Given the description of an element on the screen output the (x, y) to click on. 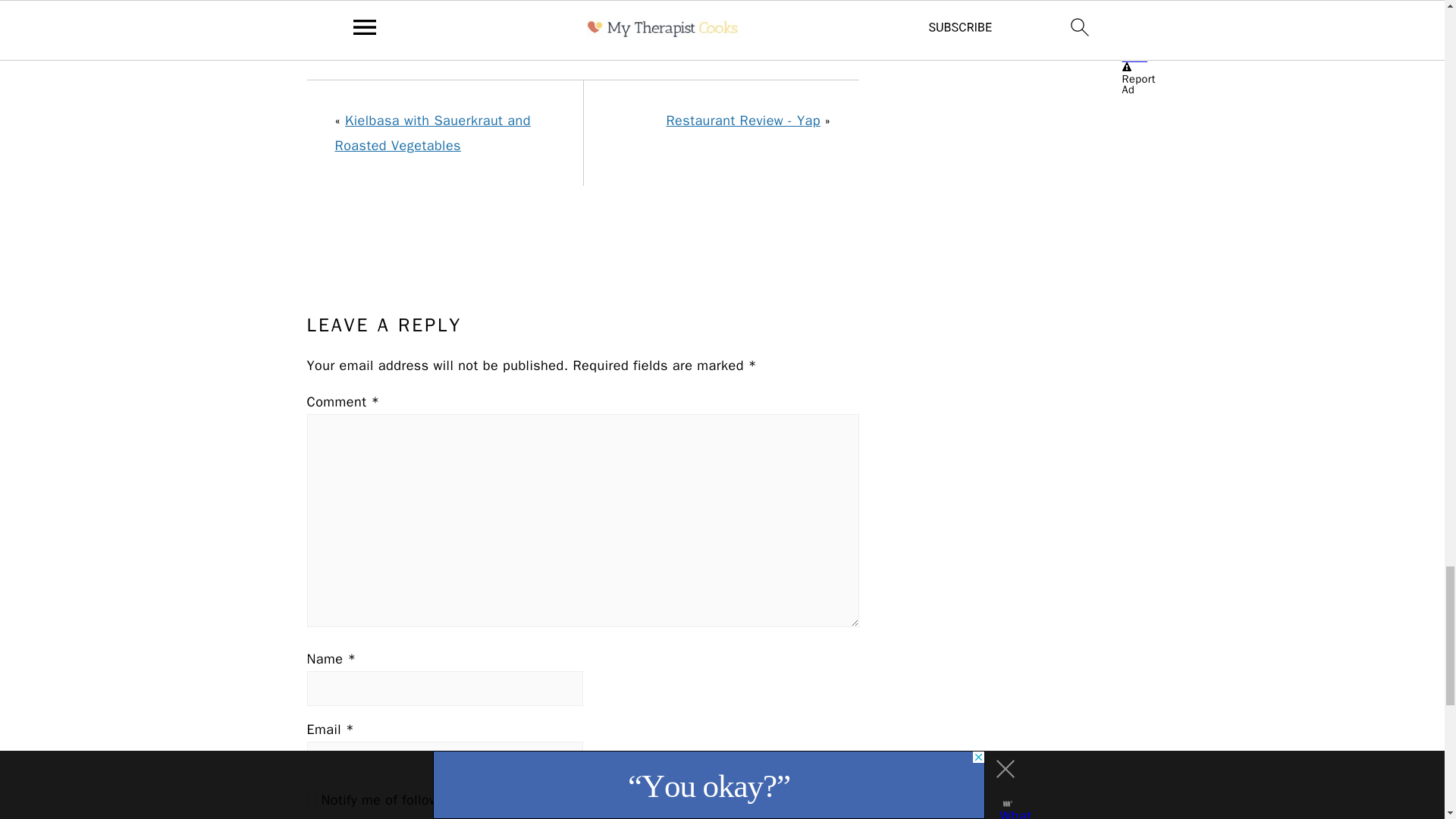
subscribe (310, 799)
